Given the description of an element on the screen output the (x, y) to click on. 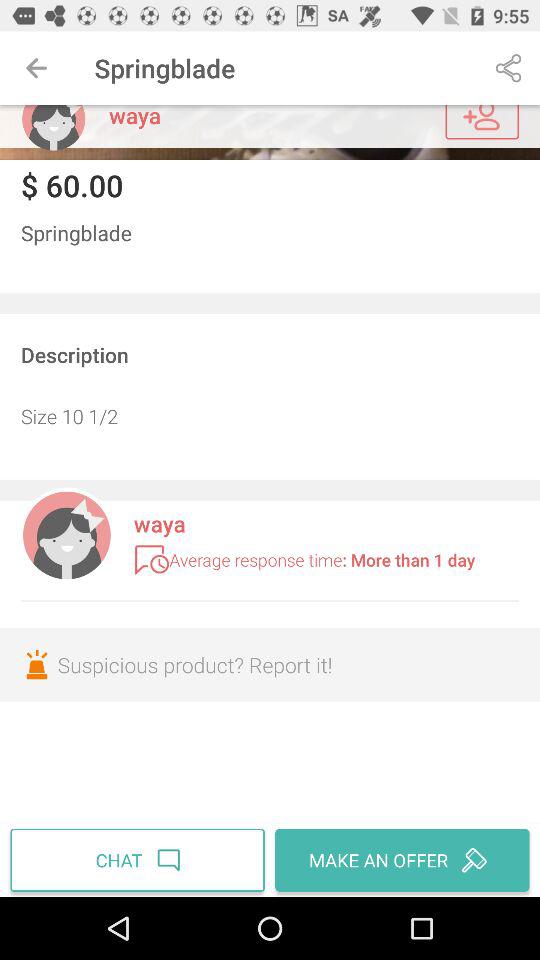
tap the icon next to the springblade  item (36, 68)
